Given the description of an element on the screen output the (x, y) to click on. 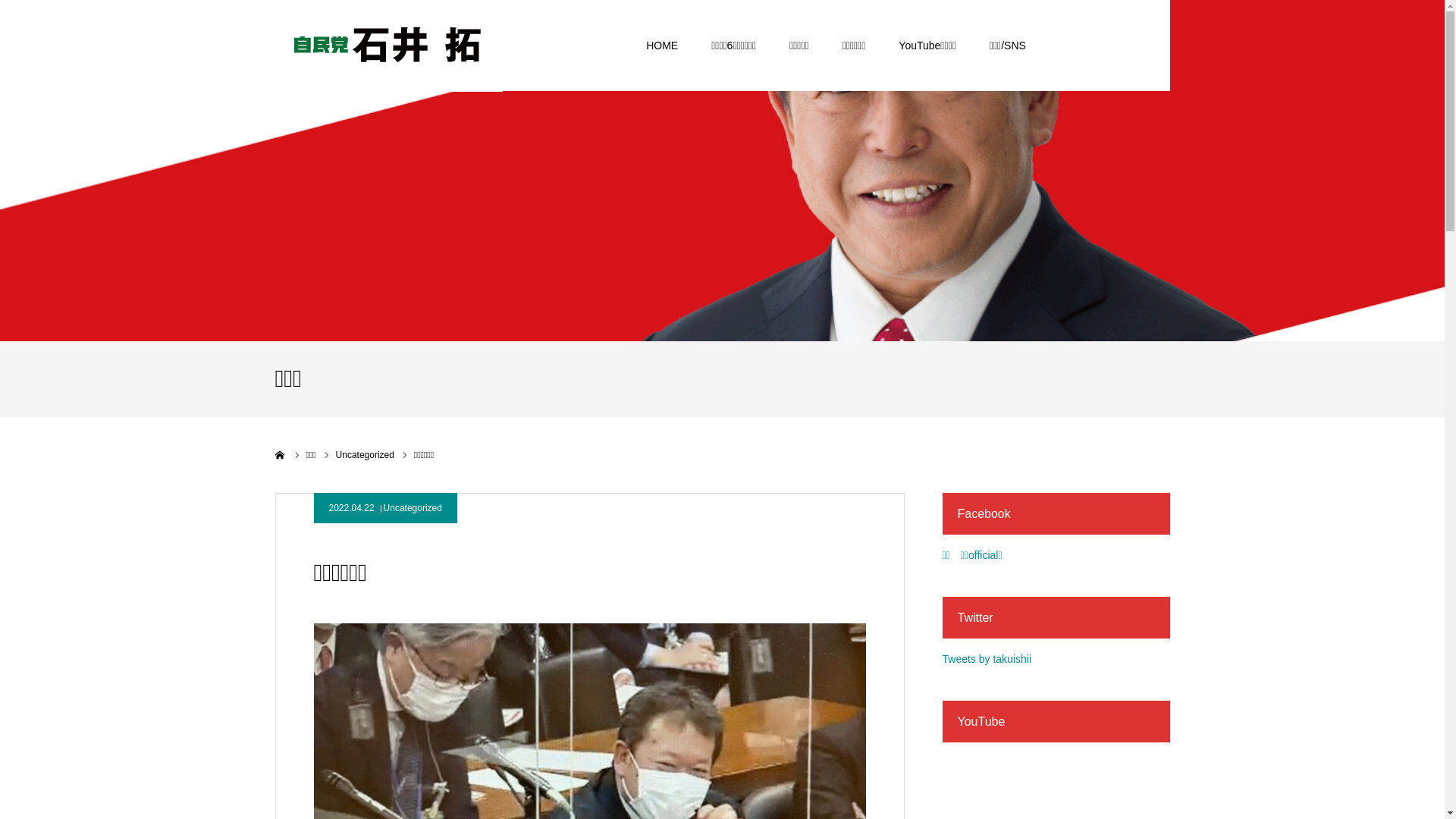
HOME Element type: text (661, 45)
Tweets by takuishii Element type: text (986, 658)
Uncategorized Element type: text (364, 454)
Uncategorized Element type: text (412, 507)
